Given the description of an element on the screen output the (x, y) to click on. 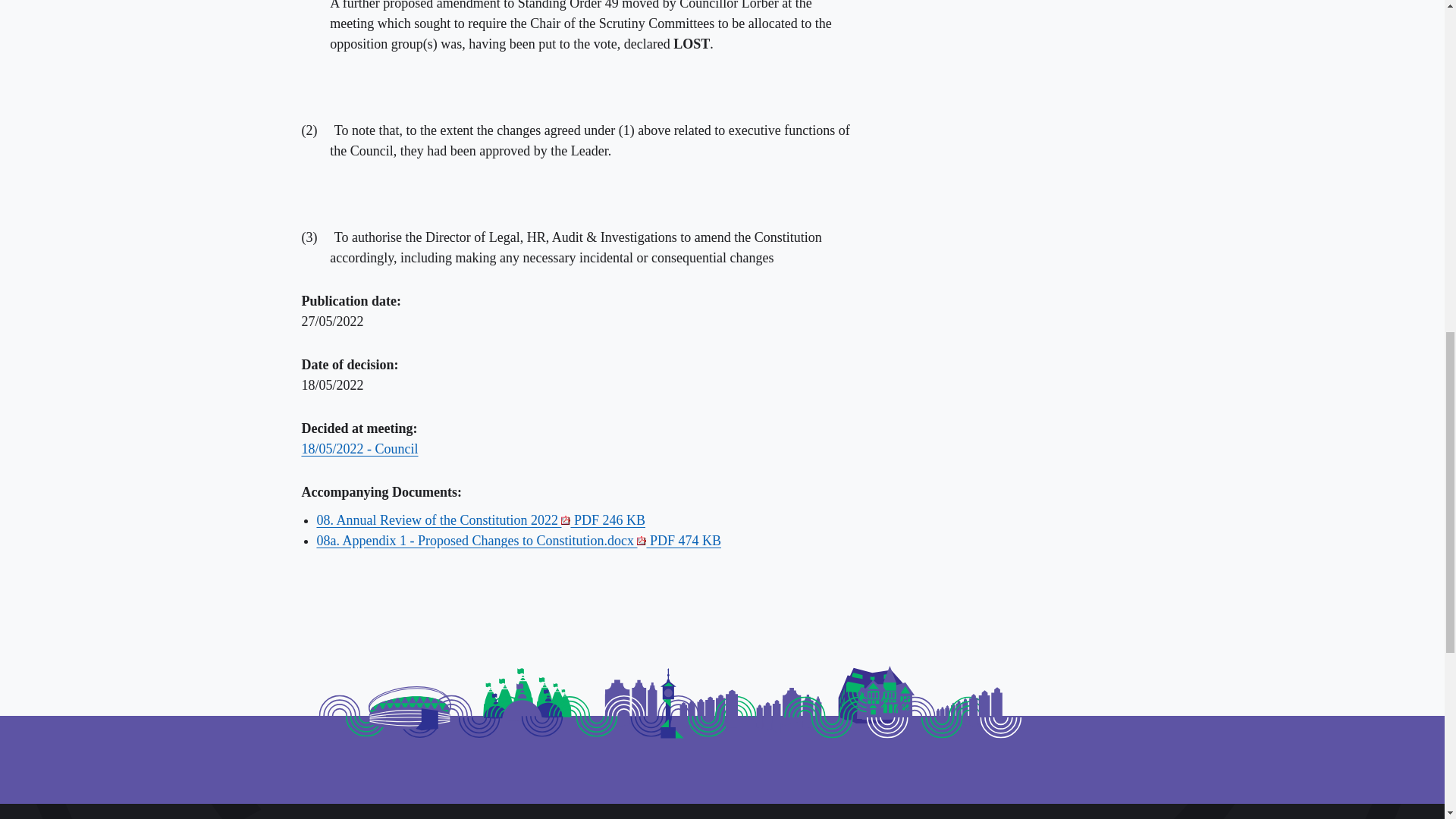
Link to file 08. Annual Review of the Constitution 2022 (481, 519)
08. Annual Review of the Constitution 2022 PDF 246 KB (481, 519)
